Given the description of an element on the screen output the (x, y) to click on. 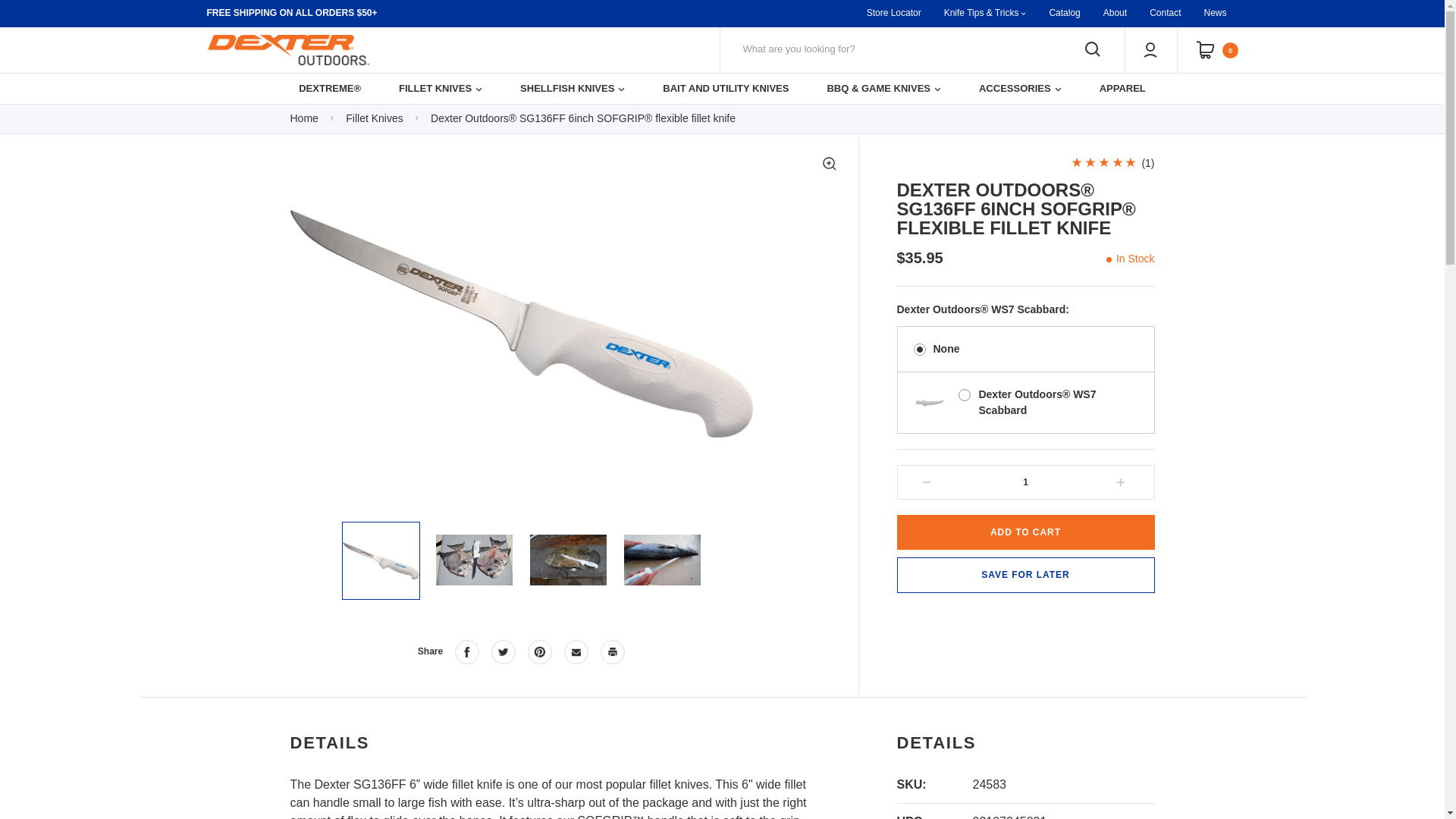
Add to Cart (1025, 532)
Dexter fishermans flex fillet knife (567, 559)
Dexter SG136FF Fishermen's Flex fillet knife (380, 560)
News (1214, 13)
SOFGRIP SG136FF (473, 559)
Facebook (466, 651)
1 (1025, 482)
Catalog (1063, 13)
0 (1217, 49)
